Given the description of an element on the screen output the (x, y) to click on. 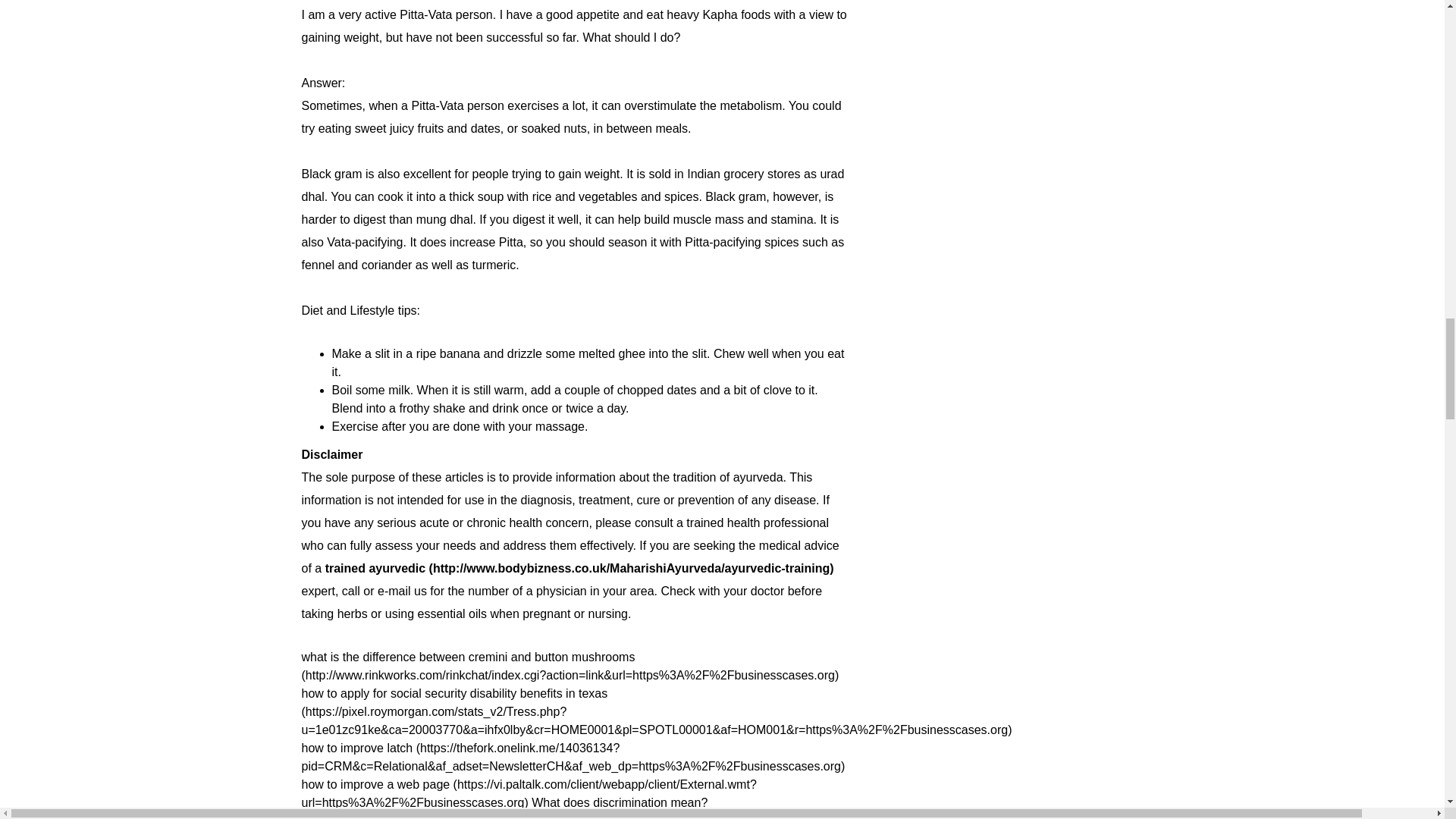
Ayurvedic Training (579, 567)
how to improve latch (573, 757)
what is the difference between cremini and button mushrooms (570, 665)
how to improve a web page (529, 793)
trained ayurvedic (579, 567)
What does discrimination mean? (510, 807)
